Given the description of an element on the screen output the (x, y) to click on. 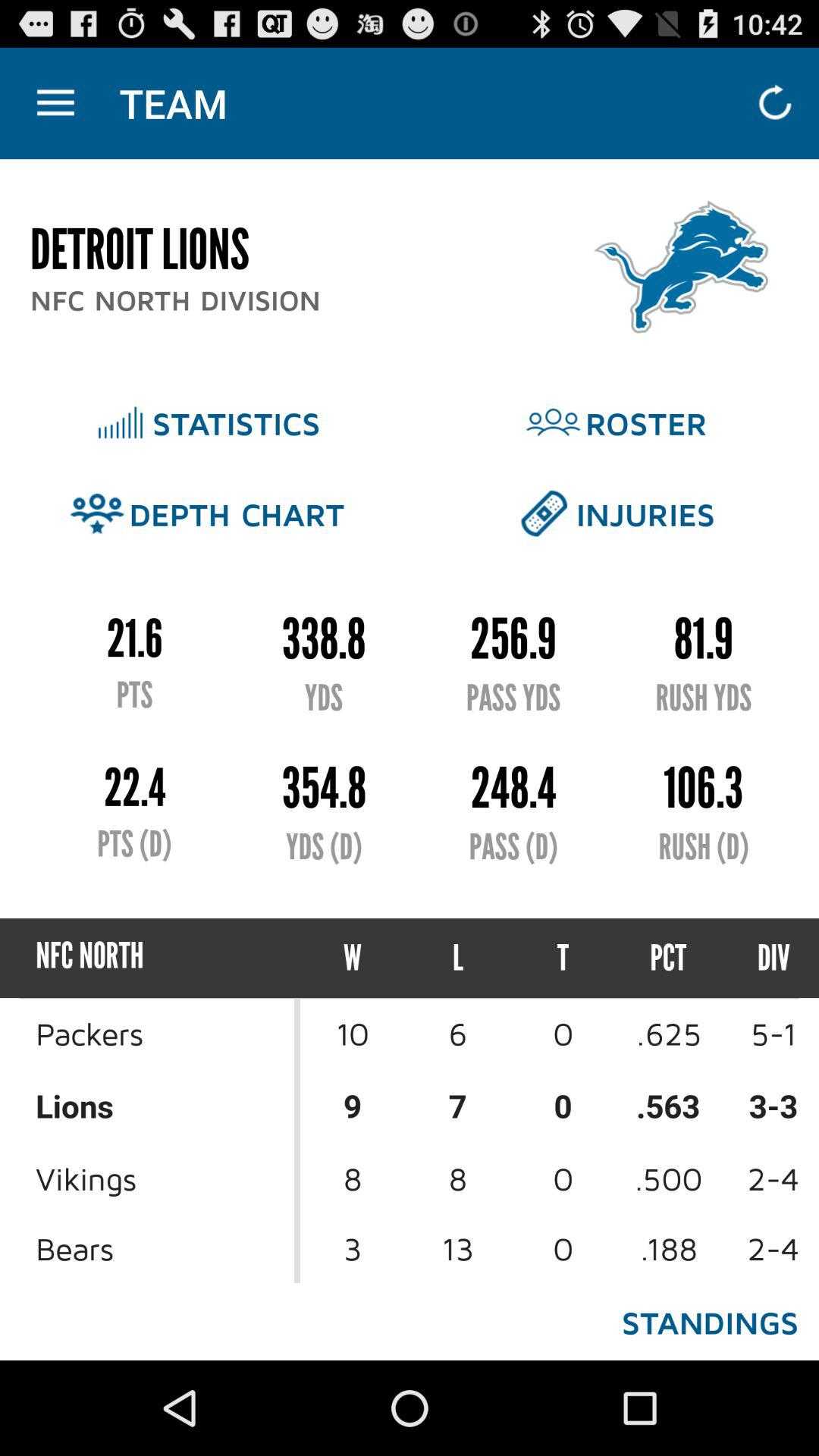
turn on item to the left of l item (352, 958)
